Given the description of an element on the screen output the (x, y) to click on. 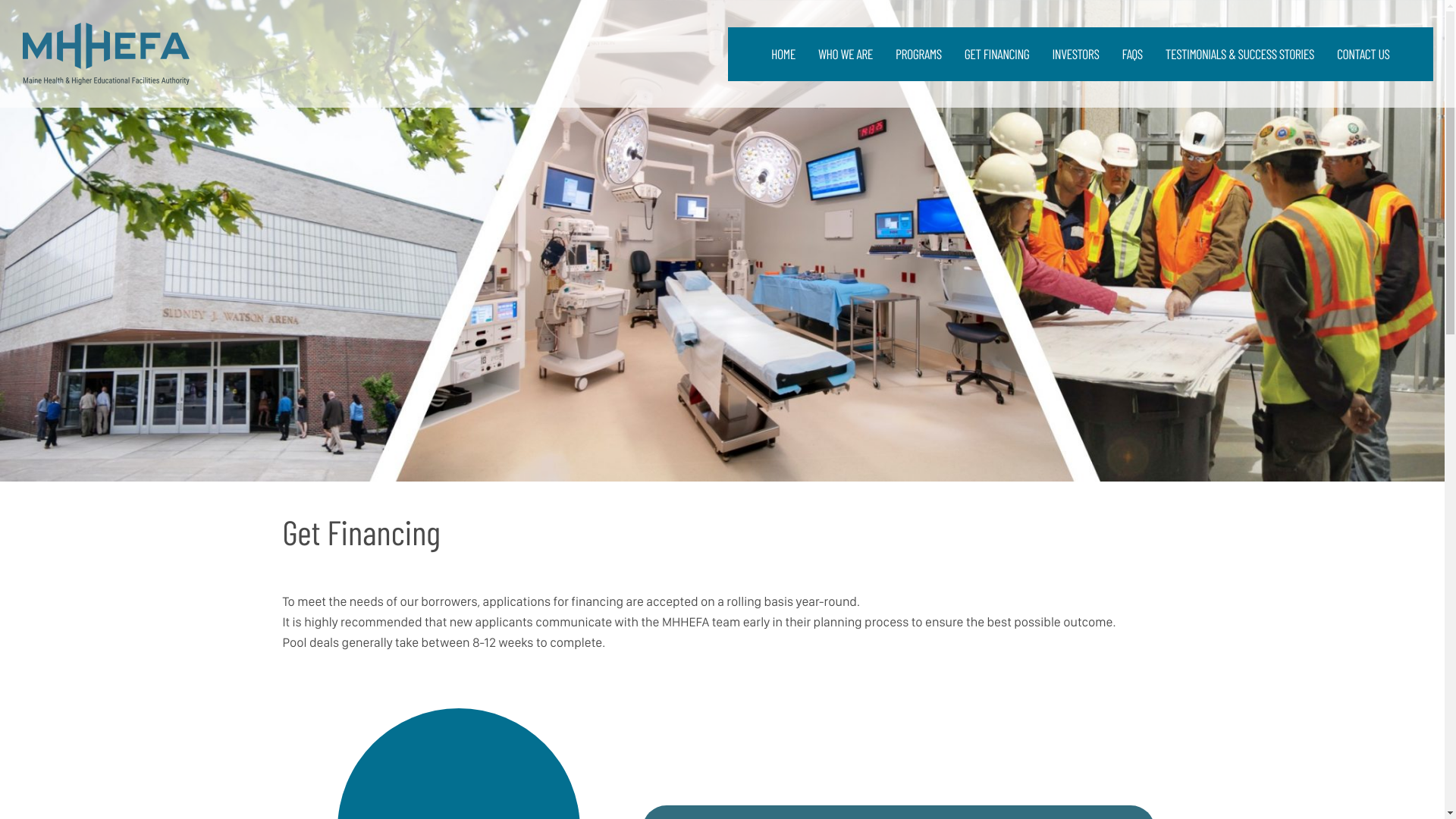
CONTACT US (1362, 53)
HOME (783, 53)
INVESTORS (1075, 53)
FAQS (1131, 53)
WHO WE ARE (844, 53)
GET FINANCING (997, 53)
PROGRAMS (918, 53)
